Given the description of an element on the screen output the (x, y) to click on. 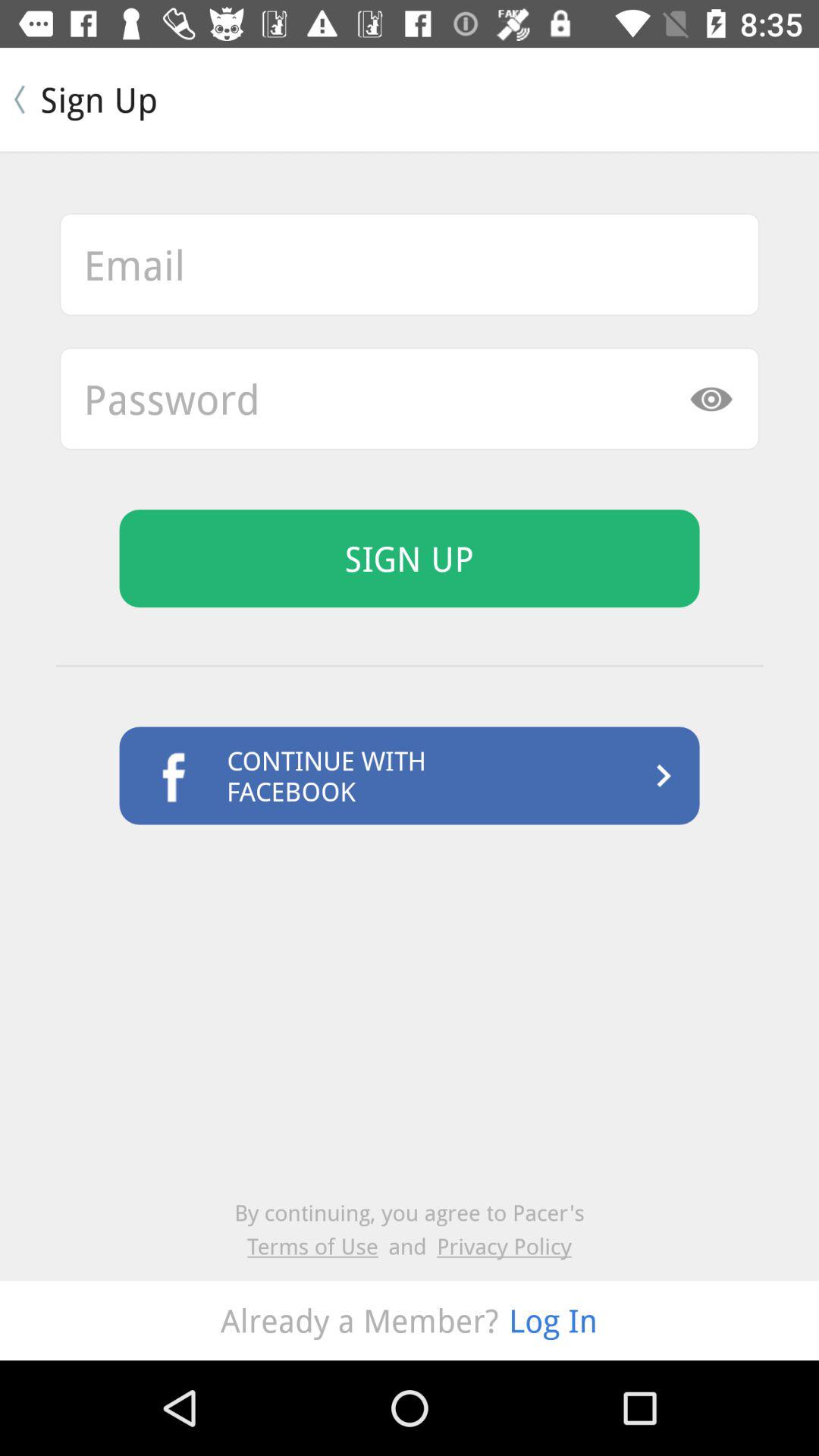
launch the icon above the already a member? item (317, 1245)
